Given the description of an element on the screen output the (x, y) to click on. 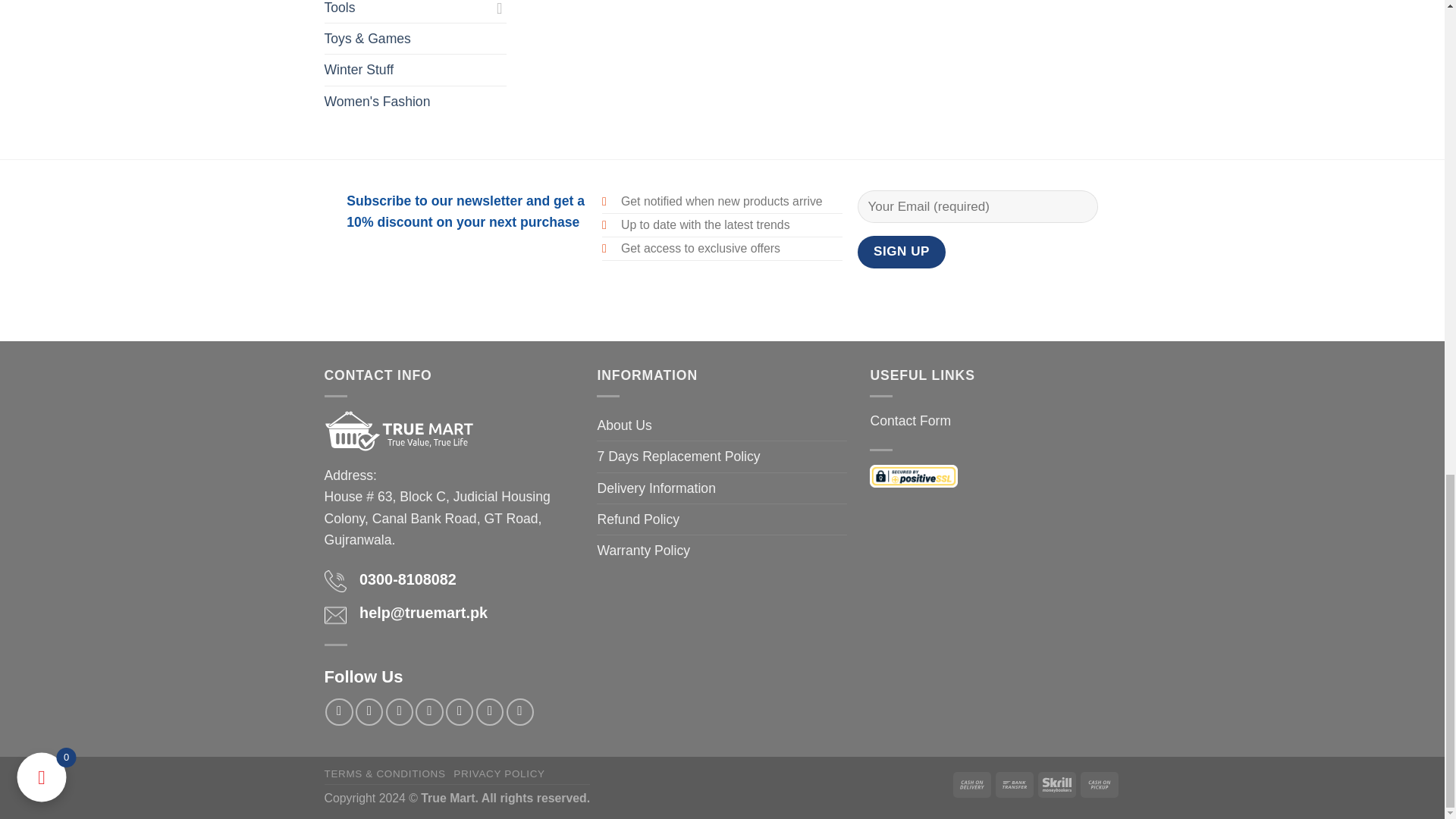
Follow on Twitter (428, 711)
Follow on TikTok (399, 711)
Sign Up (901, 251)
Follow on Pinterest (489, 711)
Follow on YouTube (520, 711)
Follow on Facebook (338, 711)
Send us an email (459, 711)
Follow on Instagram (368, 711)
